Given the description of an element on the screen output the (x, y) to click on. 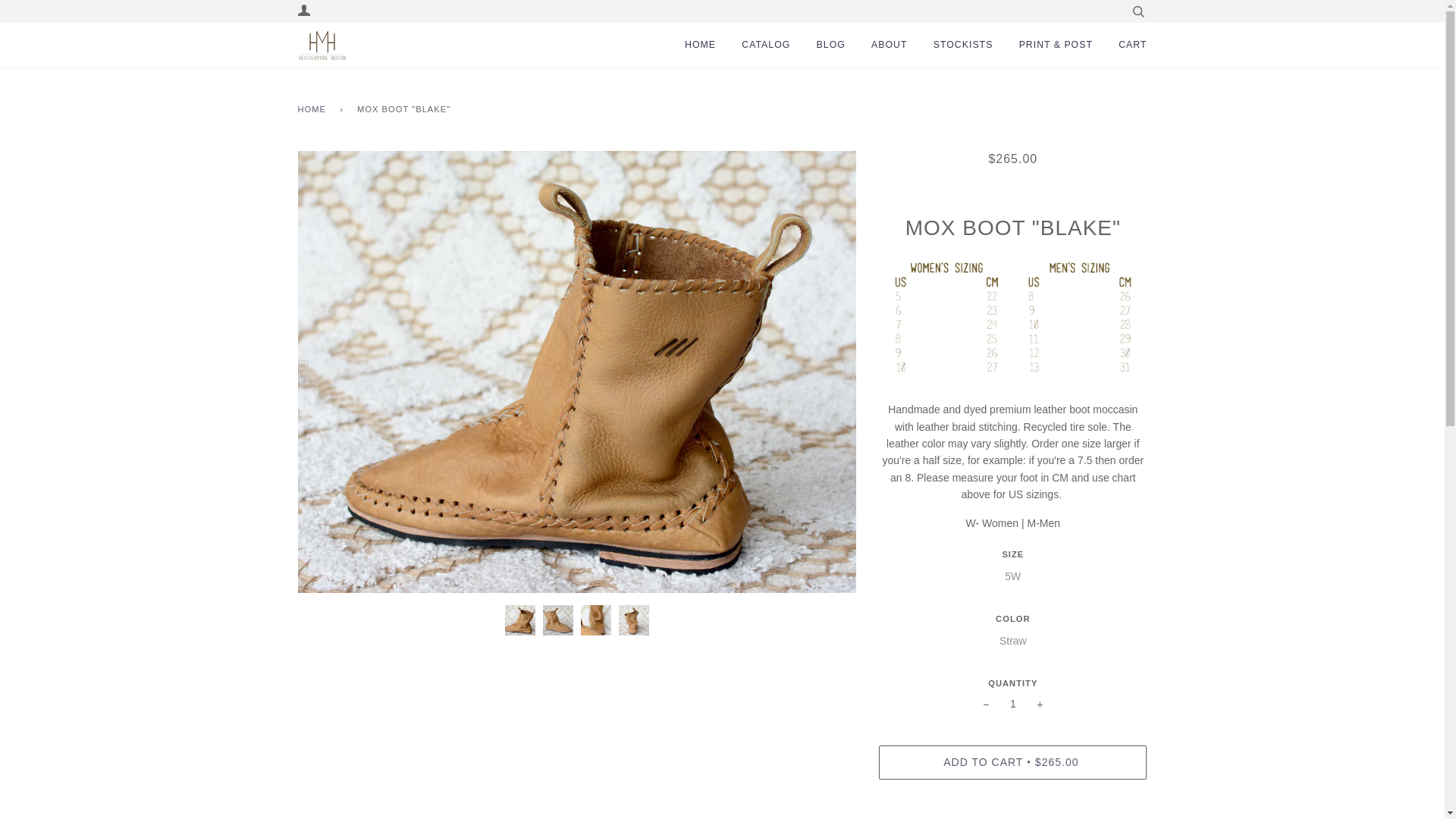
HOME (700, 44)
BLOG (830, 44)
Next (842, 372)
STOCKISTS (962, 44)
Back to the frontpage (314, 109)
1 (1012, 704)
CART (1132, 44)
Previous (311, 372)
ABOUT (888, 44)
HOME (314, 109)
CATALOG (765, 44)
